Given the description of an element on the screen output the (x, y) to click on. 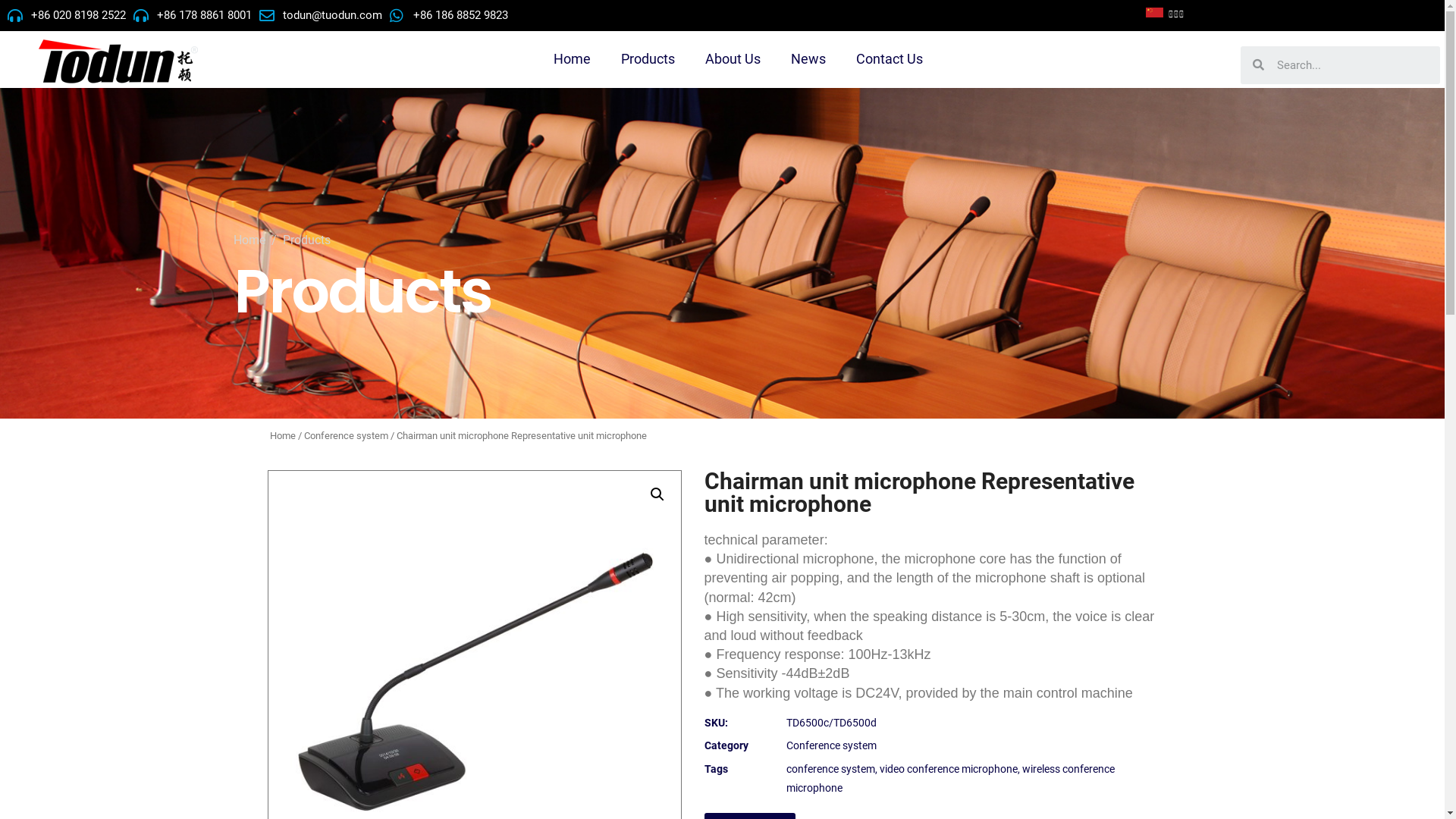
Conference system Element type: text (346, 435)
+86 186 8852 9823 Element type: text (448, 15)
Search Element type: hover (1351, 65)
Home Element type: text (571, 58)
wireless conference microphone Element type: text (950, 777)
todun@tuodun.com Element type: text (320, 15)
Products Element type: text (647, 58)
Home Element type: text (249, 239)
Home Element type: text (282, 435)
Contact Us Element type: text (889, 58)
+86 020 8198 2522 Element type: text (66, 15)
Conference system Element type: text (831, 745)
logo_20211222091315 Element type: hover (117, 61)
conference system Element type: text (830, 768)
+86 178 8861 8001 Element type: text (192, 15)
News Element type: text (807, 58)
About Us Element type: text (732, 58)
video conference microphone Element type: text (948, 768)
